Given the description of an element on the screen output the (x, y) to click on. 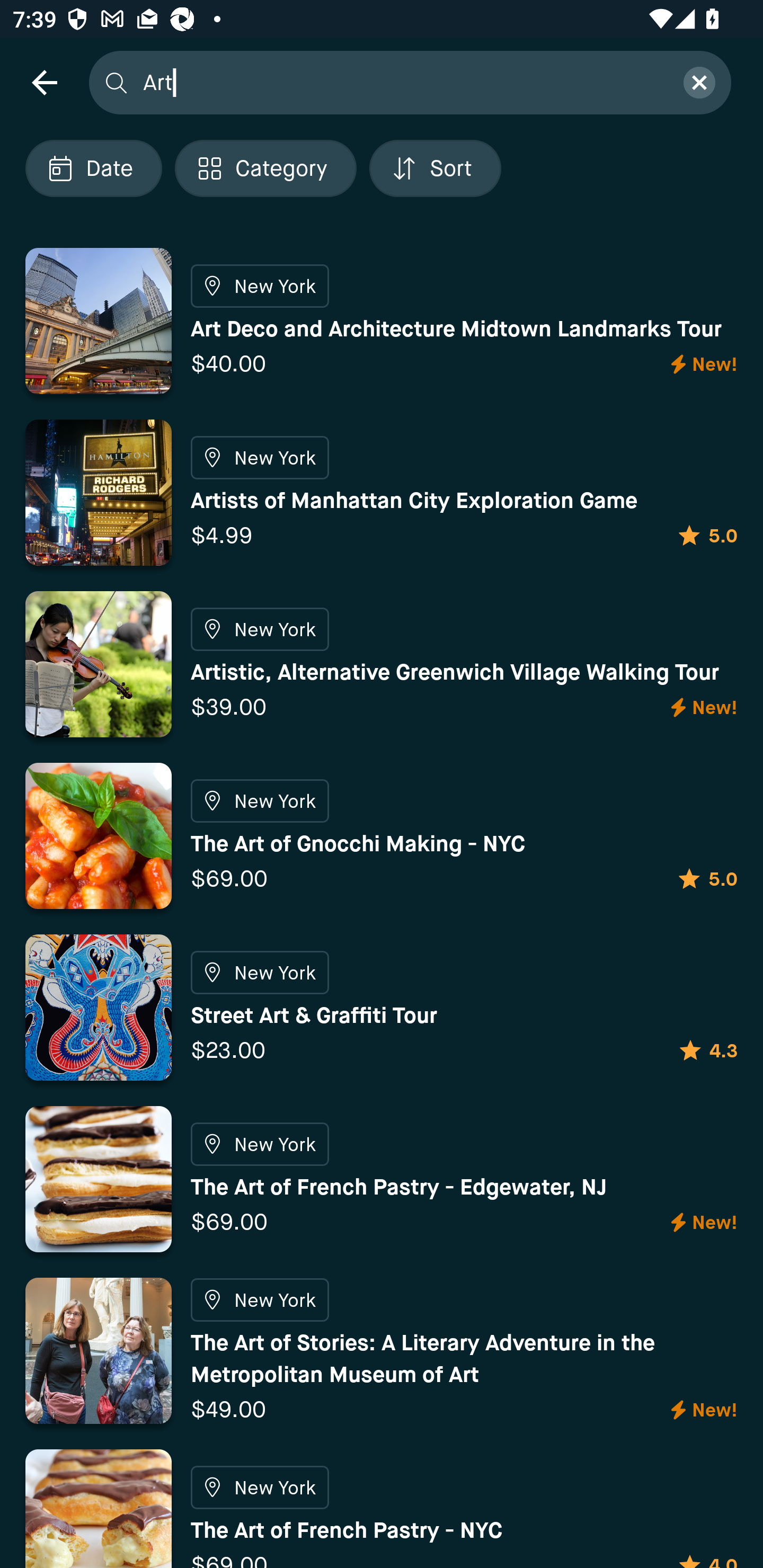
navigation icon (44, 81)
Art (402, 81)
Localized description Date (93, 168)
Localized description Category (265, 168)
Localized description Sort (435, 168)
